Given the description of an element on the screen output the (x, y) to click on. 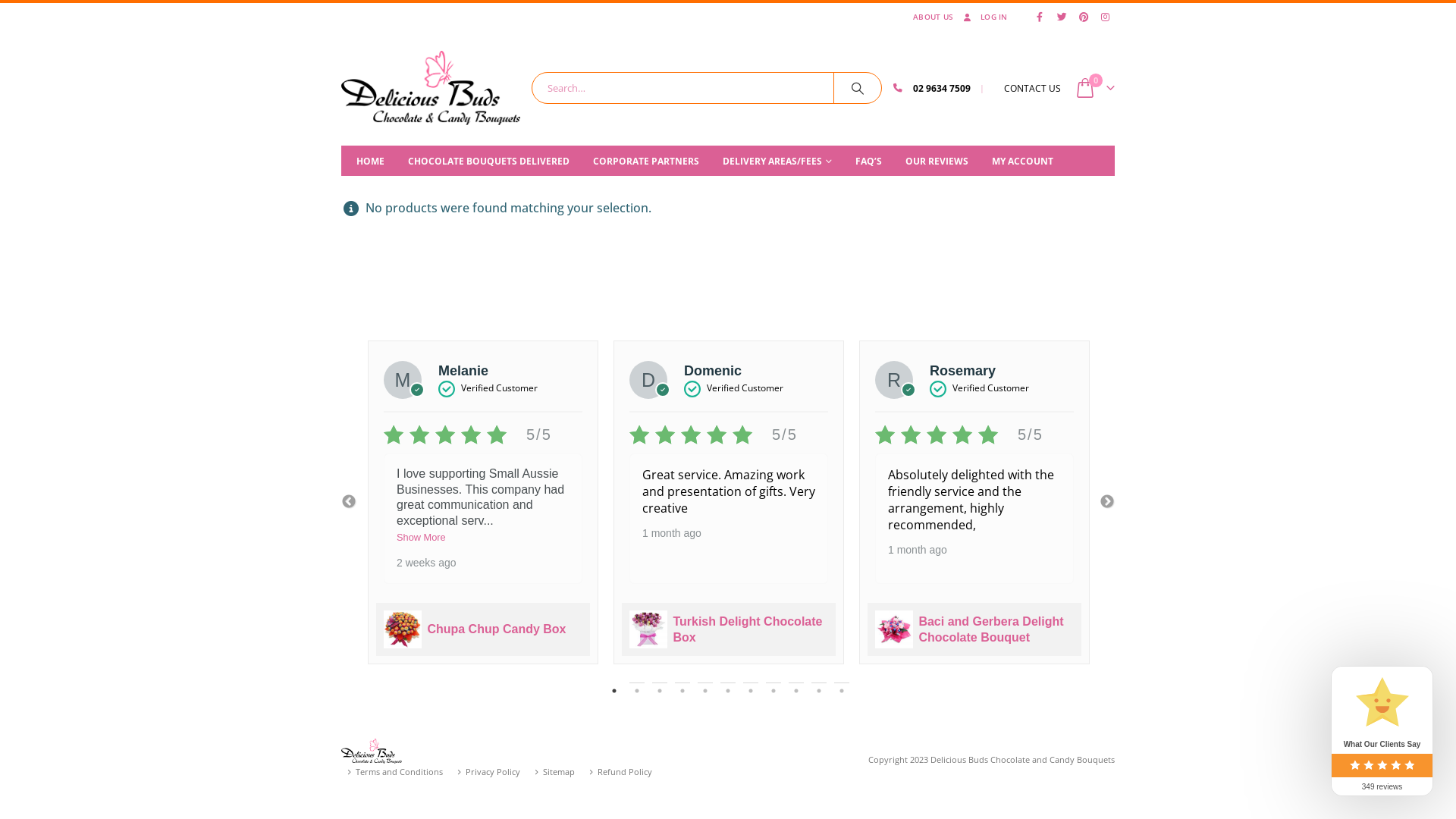
DELIVERY AREAS/FEES Element type: text (773, 160)
Show More Element type: text (420, 536)
Twitter Element type: hover (1061, 16)
Refund Policy Element type: text (624, 771)
CONTACT US Element type: text (1032, 87)
5 Element type: text (704, 690)
Previous Element type: text (348, 501)
Pinterest Element type: hover (1083, 16)
Delicious Buds Chocolate - Chocolate & Candy Bouquets Element type: hover (371, 749)
OUR REVIEWS Element type: text (932, 160)
LOG IN Element type: text (984, 16)
1 Element type: text (613, 690)
MY ACCOUNT Element type: text (1018, 160)
02 9634 7509 Element type: text (941, 87)
Sitemap Element type: text (558, 771)
Instagram Element type: hover (1104, 16)
7 Element type: text (750, 690)
3 Element type: text (659, 690)
HOME Element type: text (366, 160)
4 Element type: text (682, 690)
Chupa Chup Candy Box Element type: text (495, 628)
CORPORATE PARTNERS Element type: text (641, 160)
Baci and Gerbera Delight Chocolate Bouquet Element type: text (990, 629)
Next Element type: text (1106, 501)
Facebook Element type: hover (1040, 16)
CHOCOLATE BOUQUETS DELIVERED Element type: text (484, 160)
6 Element type: text (727, 690)
Terms and Conditions Element type: text (398, 771)
ABOUT US Element type: text (933, 16)
10 Element type: text (818, 690)
9 Element type: text (795, 690)
2 Element type: text (636, 690)
Turkish Delight Chocolate Box Element type: text (747, 629)
11 Element type: text (841, 690)
8 Element type: text (773, 690)
Search Element type: hover (857, 87)
Delicious Buds Chocolate - Chocolate & Candy Bouquets Element type: hover (430, 87)
Privacy Policy Element type: text (492, 771)
